Given the description of an element on the screen output the (x, y) to click on. 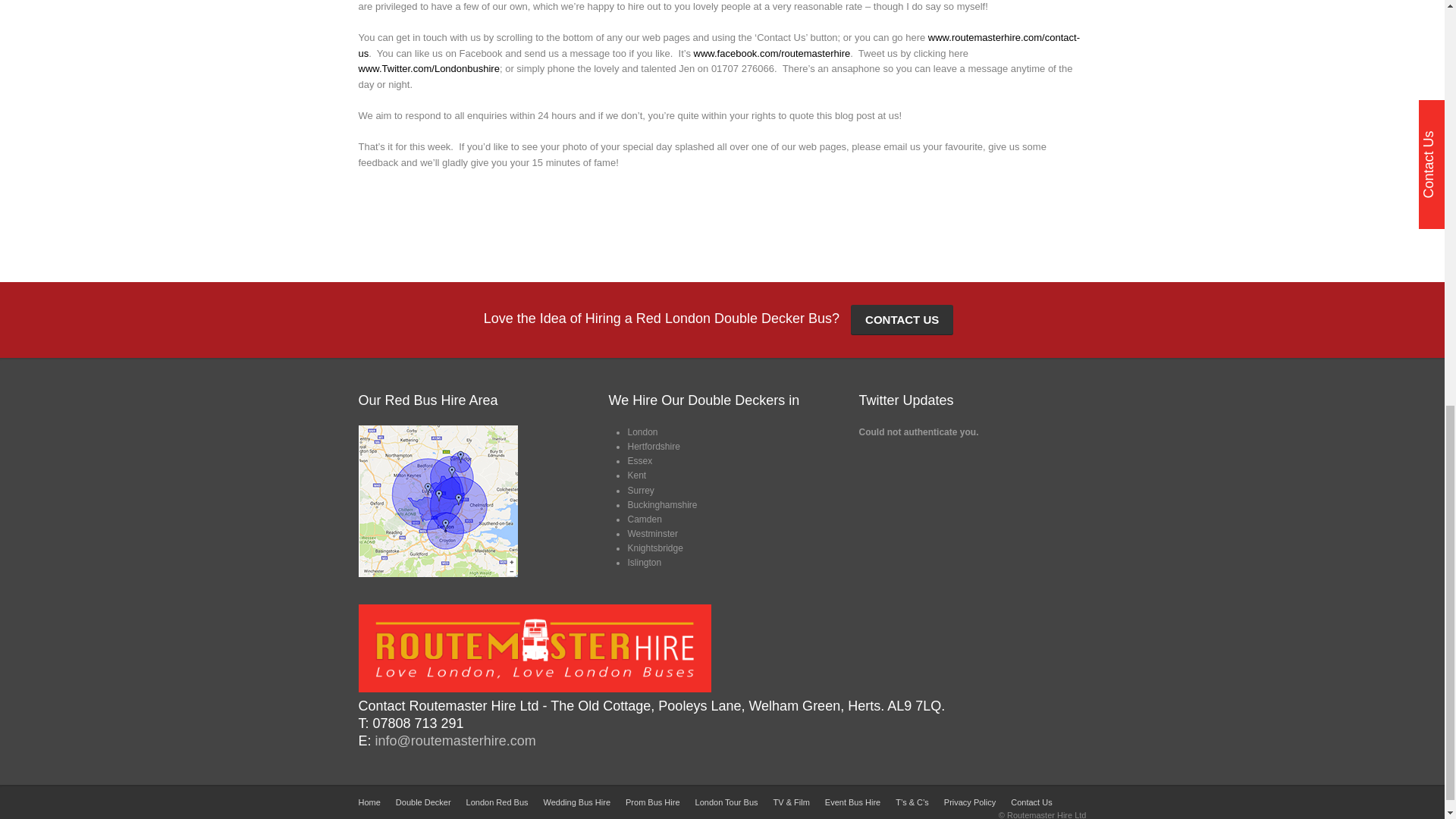
Wedding Bus Hire (576, 801)
CONTACT US (901, 319)
Double Decker Bus Hire (423, 801)
Contact Routemaster Hire (1030, 801)
Prom Bus Hire (652, 801)
TV and Film Hire (791, 801)
London Red Bus Hire (496, 801)
Home (369, 801)
London Tour Bus Hire (726, 801)
